Given the description of an element on the screen output the (x, y) to click on. 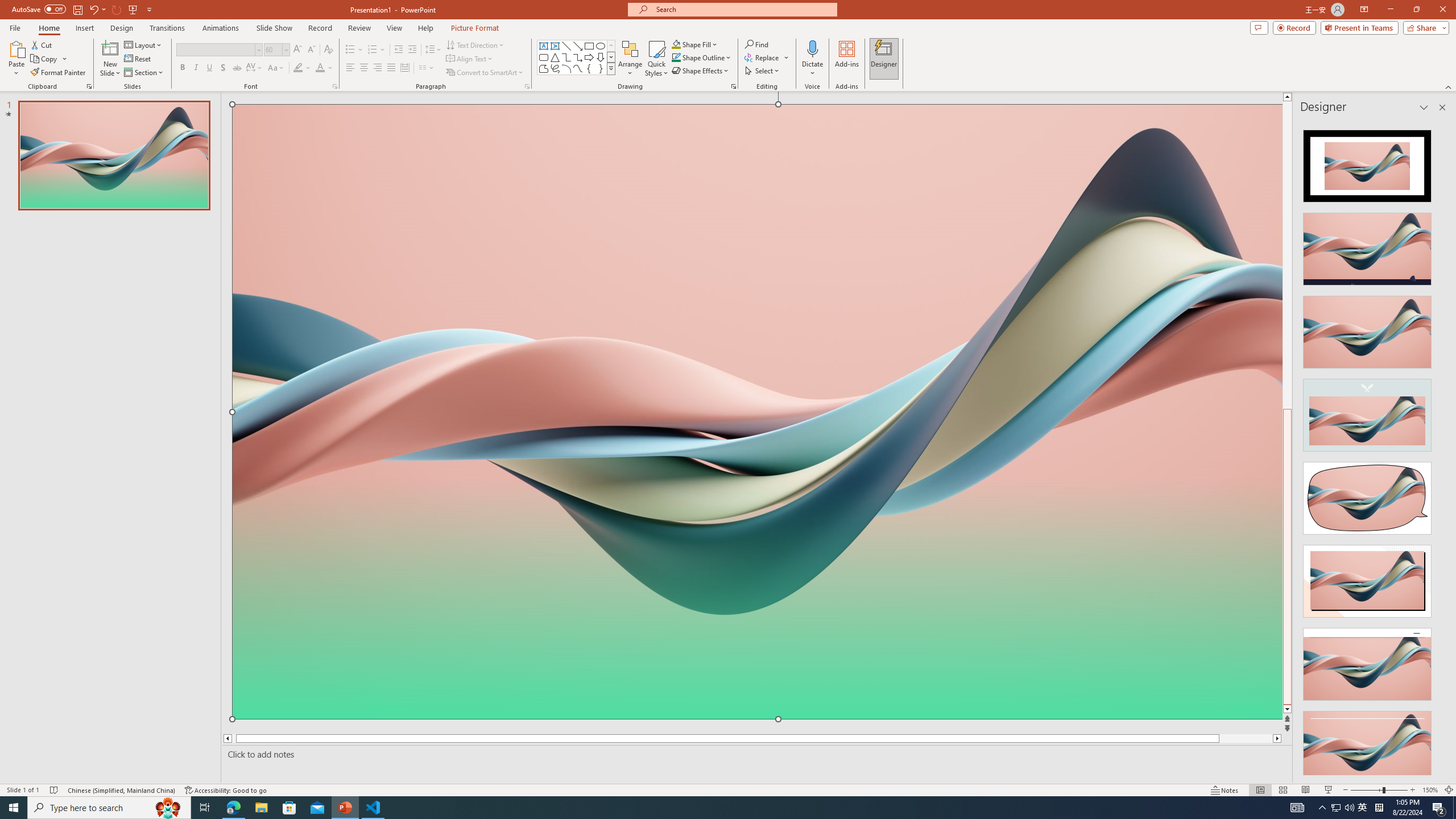
Wavy 3D art (757, 411)
